Given the description of an element on the screen output the (x, y) to click on. 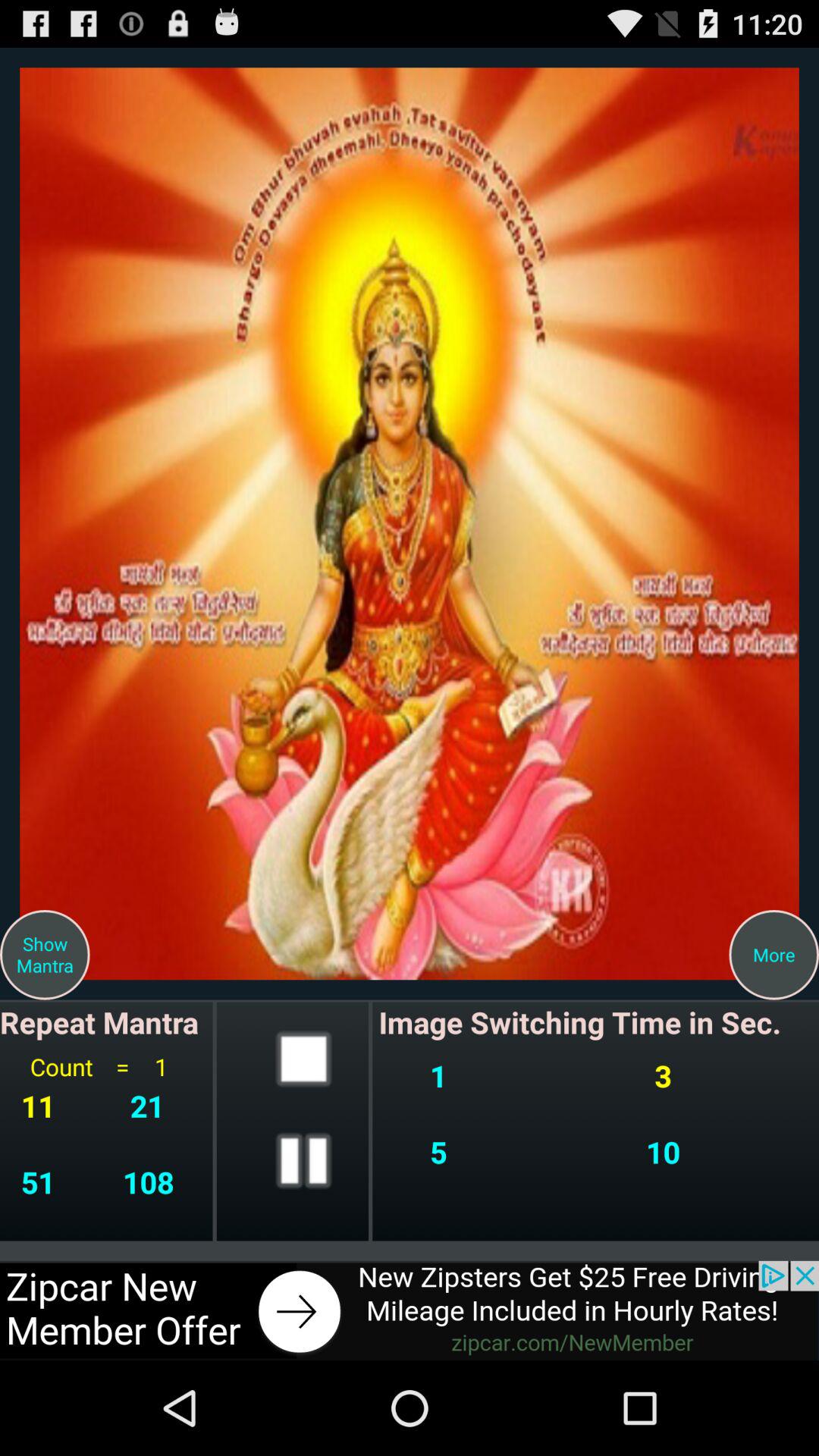
select pause (303, 1160)
